Given the description of an element on the screen output the (x, y) to click on. 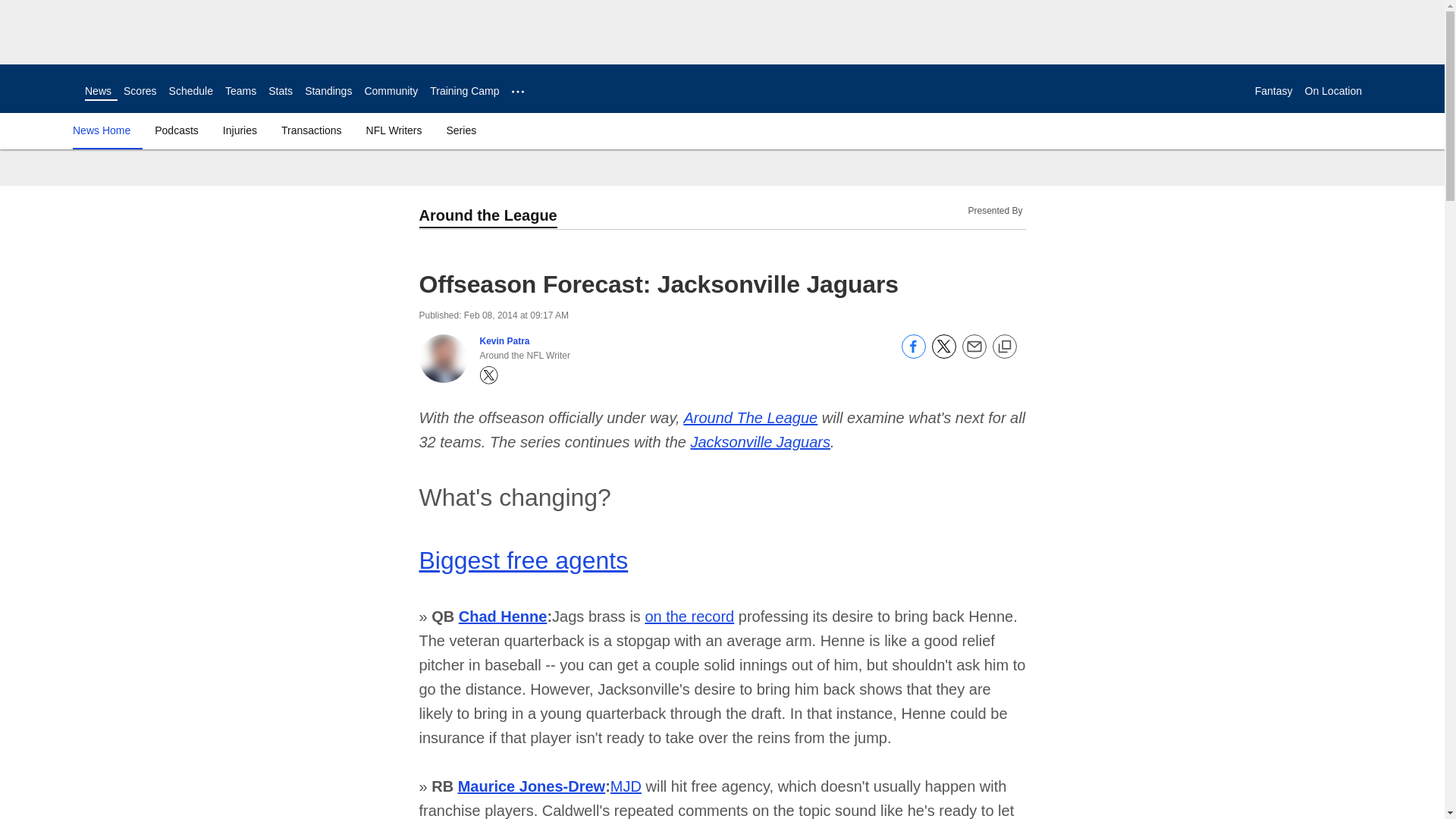
News (98, 91)
Scores (140, 91)
Link to NFL homepage (42, 88)
Schedule (190, 91)
Teams (240, 91)
Schedule (190, 91)
Scores (140, 91)
Stats (279, 91)
Teams (240, 91)
News (98, 91)
